Given the description of an element on the screen output the (x, y) to click on. 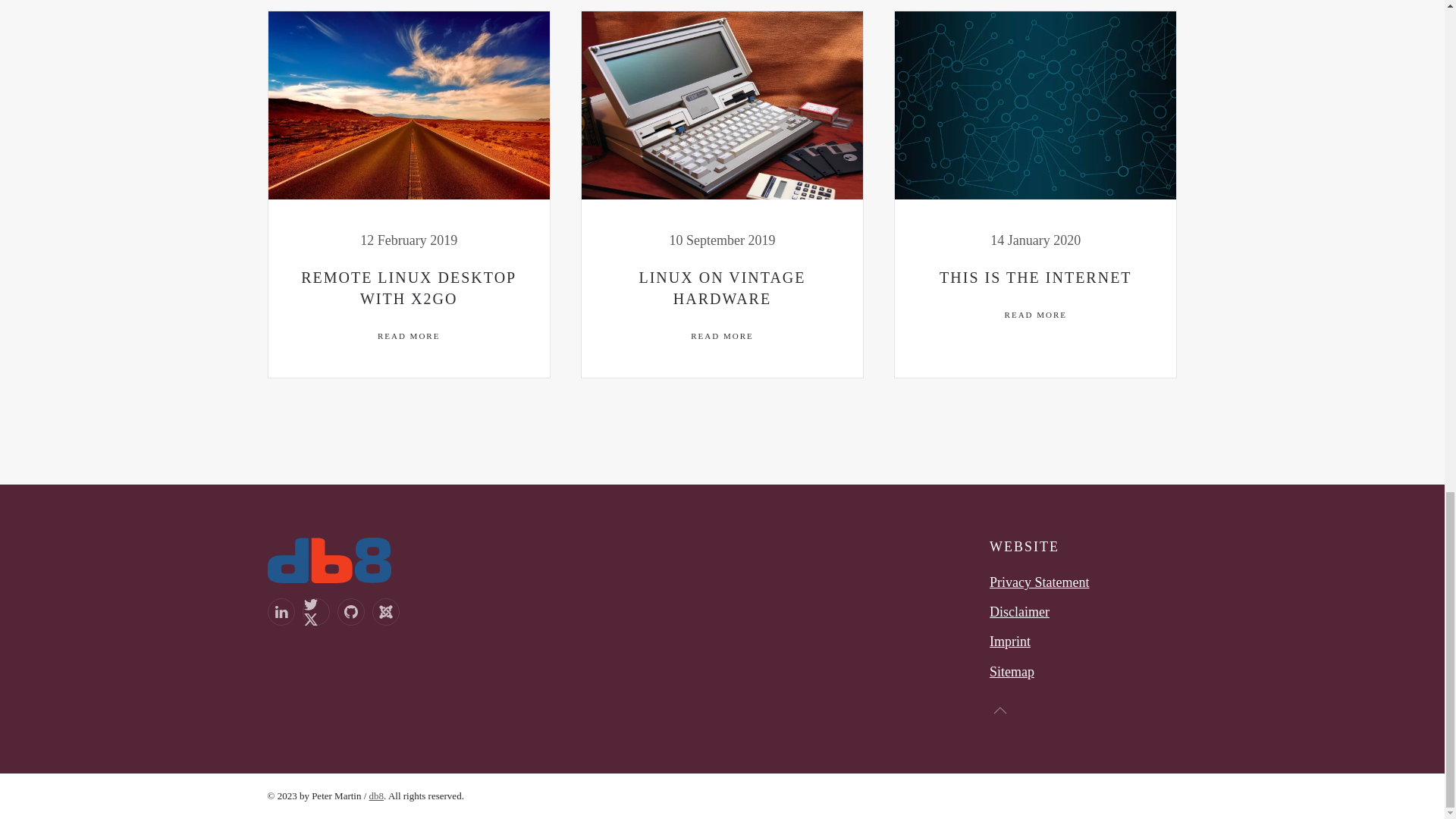
Twitter Page of Peter Martin (315, 611)
LinkedIn Profile of Peter Martin (280, 611)
Github Page of Peter Martin (350, 611)
Disclaimer (1019, 611)
Imprint (1010, 641)
Joomla specialist db8 Nijmegen (328, 558)
Joomla Volunteers Portal Page of Peter Martin (384, 611)
Privacy Statement (1039, 581)
Joomla Specialist db8 Nijmegen (376, 795)
